Given the description of an element on the screen output the (x, y) to click on. 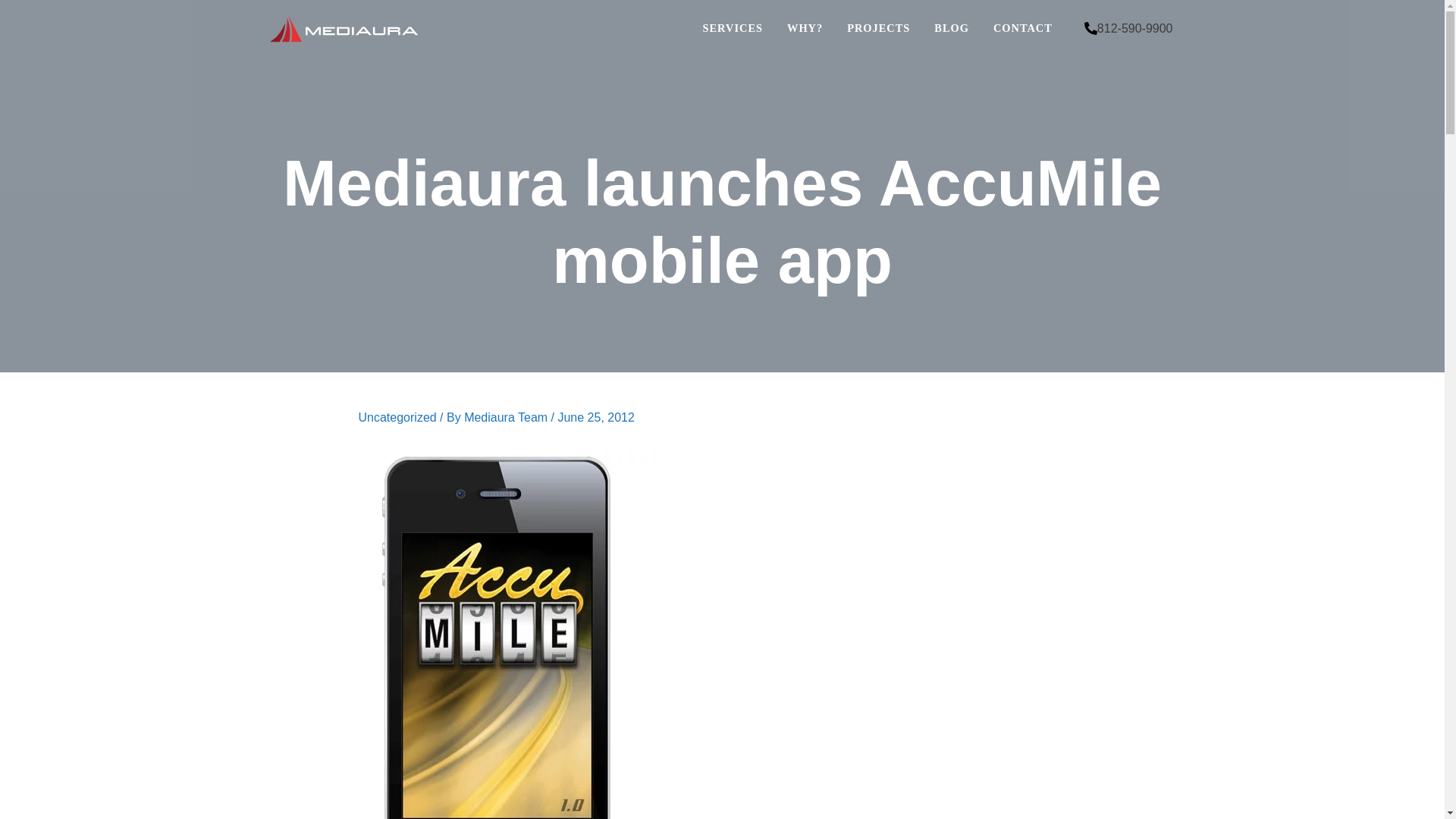
SERVICES (732, 27)
BLOG (951, 27)
CONTACT (1022, 27)
View all posts by Mediaura Team (507, 417)
PROJECTS (877, 27)
WHY? (804, 27)
812-590-9900 (1128, 28)
